Given the description of an element on the screen output the (x, y) to click on. 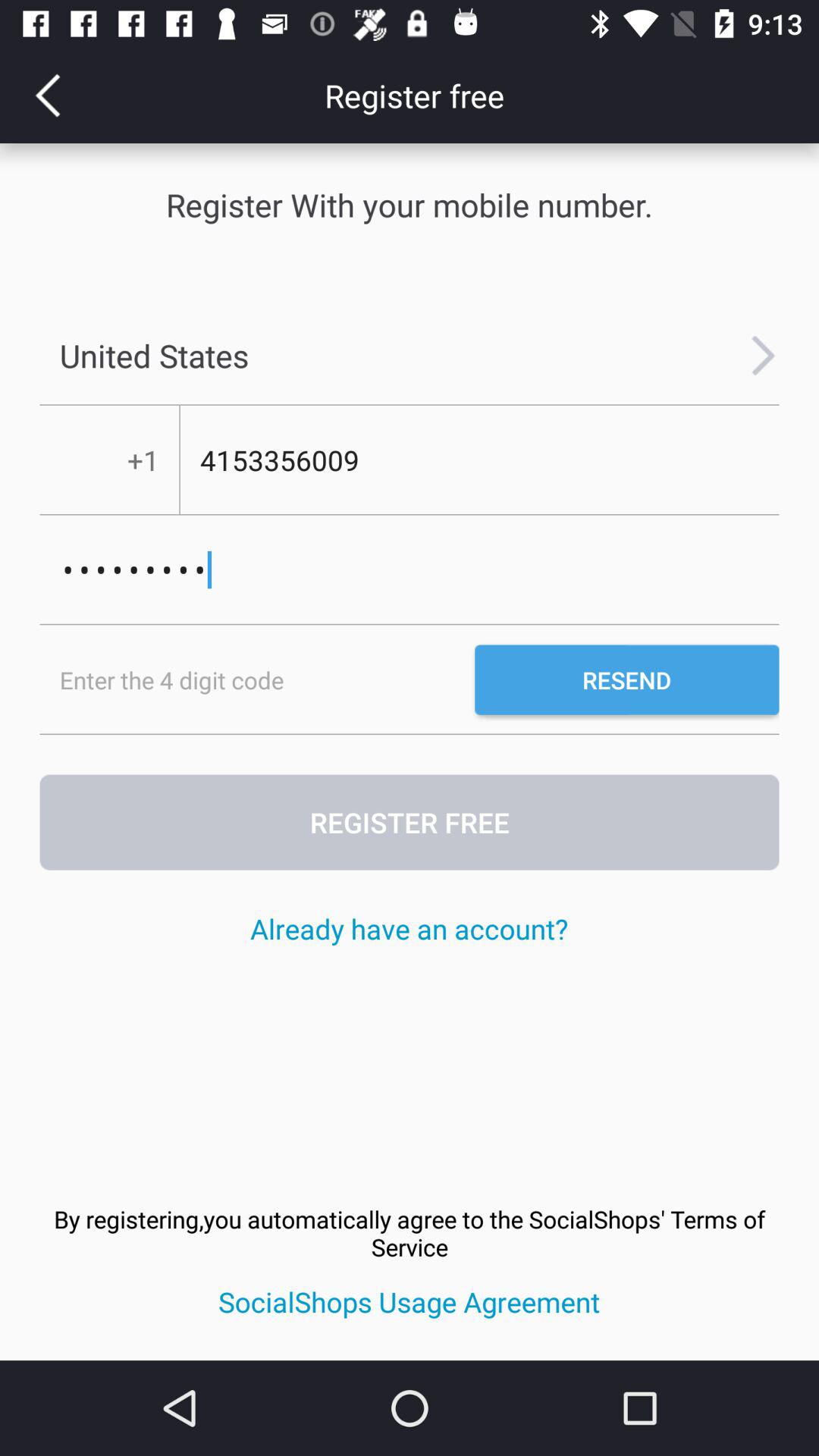
tap item on the left (256, 679)
